Given the description of an element on the screen output the (x, y) to click on. 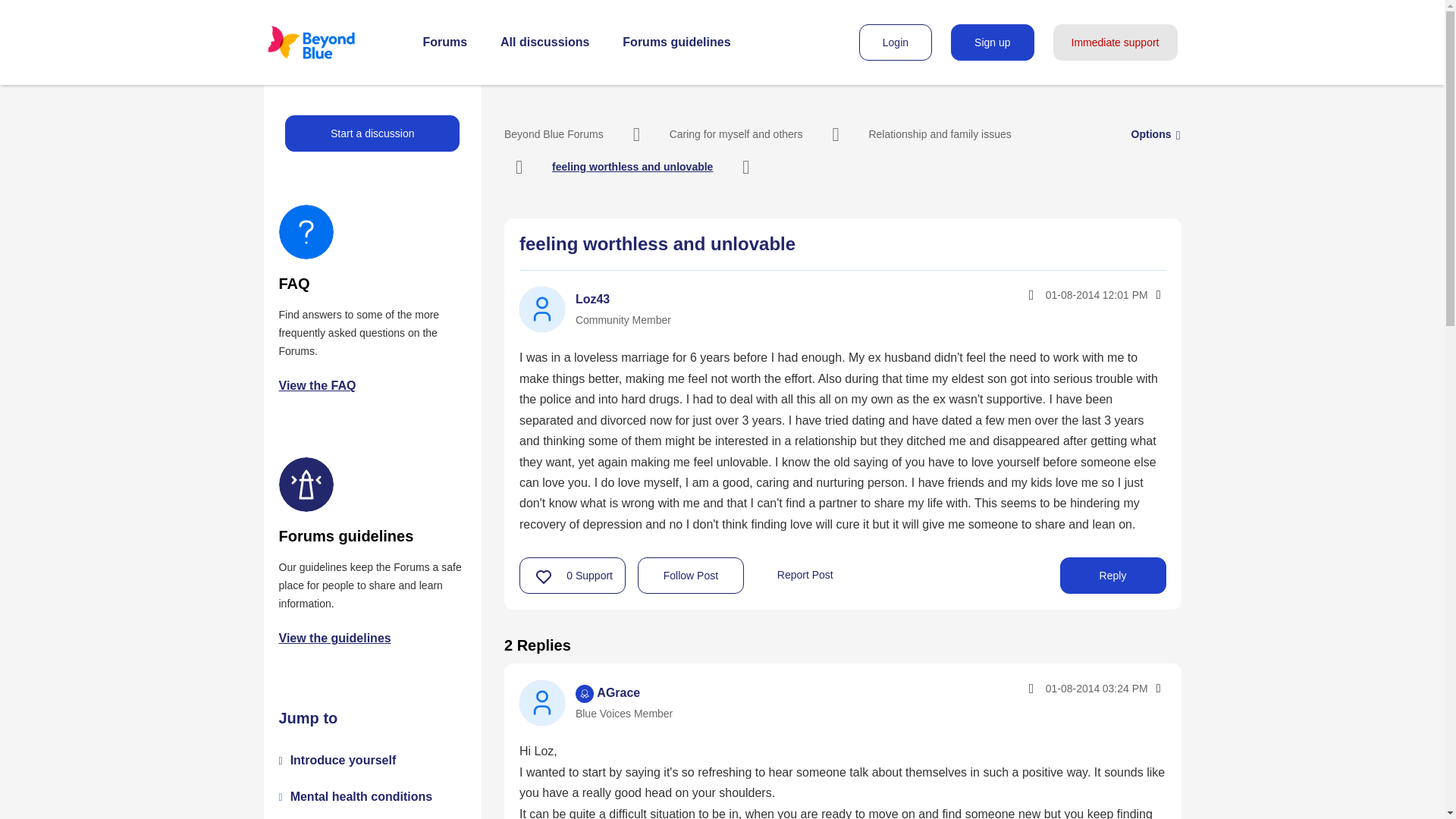
Click here to give support to this post. (543, 576)
Loz43 (592, 298)
Mental health conditions (360, 796)
Forums (445, 41)
View the guidelines (335, 637)
All discussions (544, 41)
Beyond Blue Forums (553, 133)
Posted on (1063, 688)
Show option menu (1157, 294)
Start a discussion (372, 133)
Posted on (1063, 294)
View the FAQ (317, 385)
Options (1150, 133)
Introduce yourself (342, 759)
Immediate support (1114, 42)
